Given the description of an element on the screen output the (x, y) to click on. 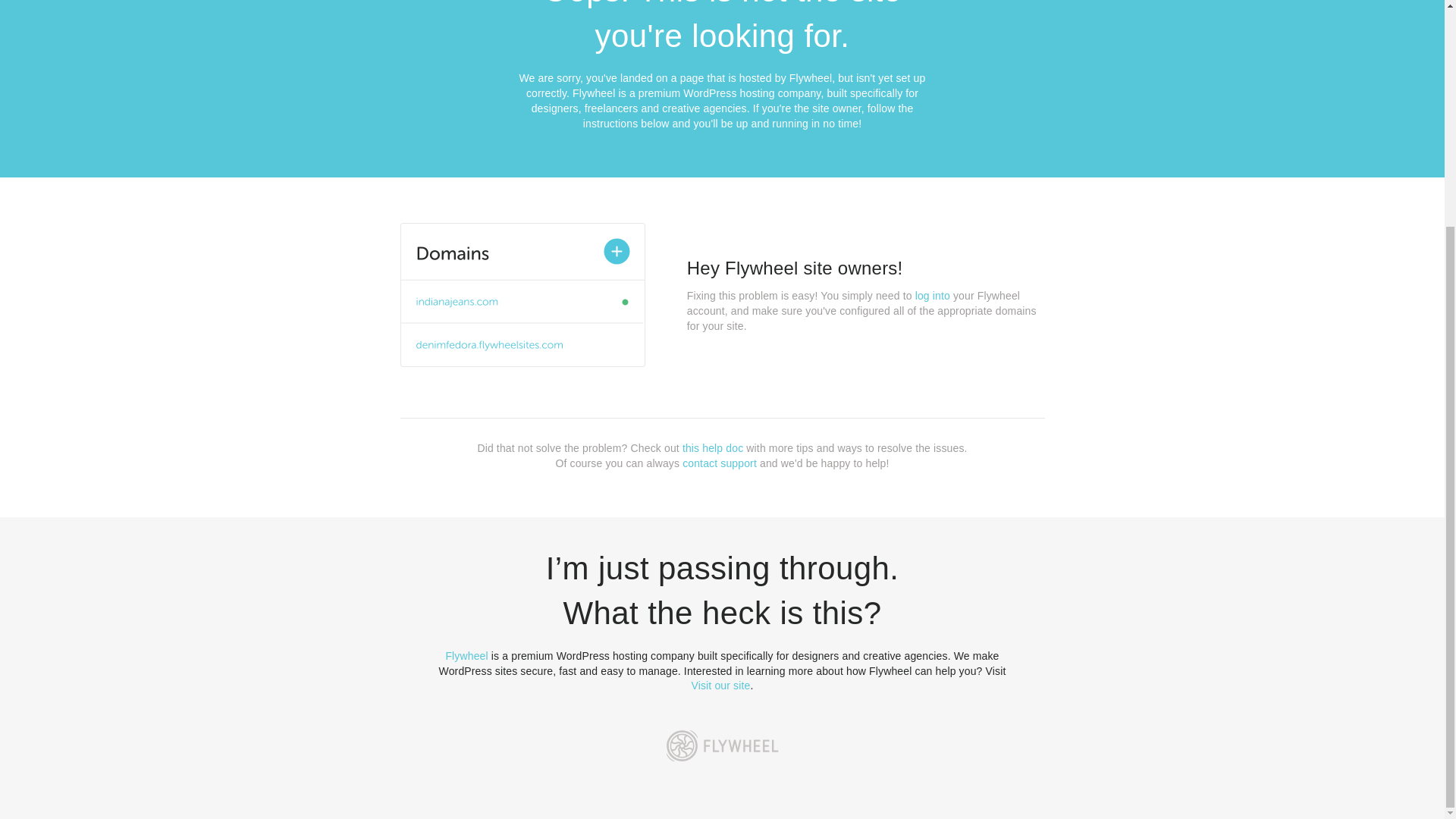
this help doc (712, 448)
Visit our site (721, 685)
Flywheel (466, 655)
log into (932, 295)
contact support (719, 463)
